Given the description of an element on the screen output the (x, y) to click on. 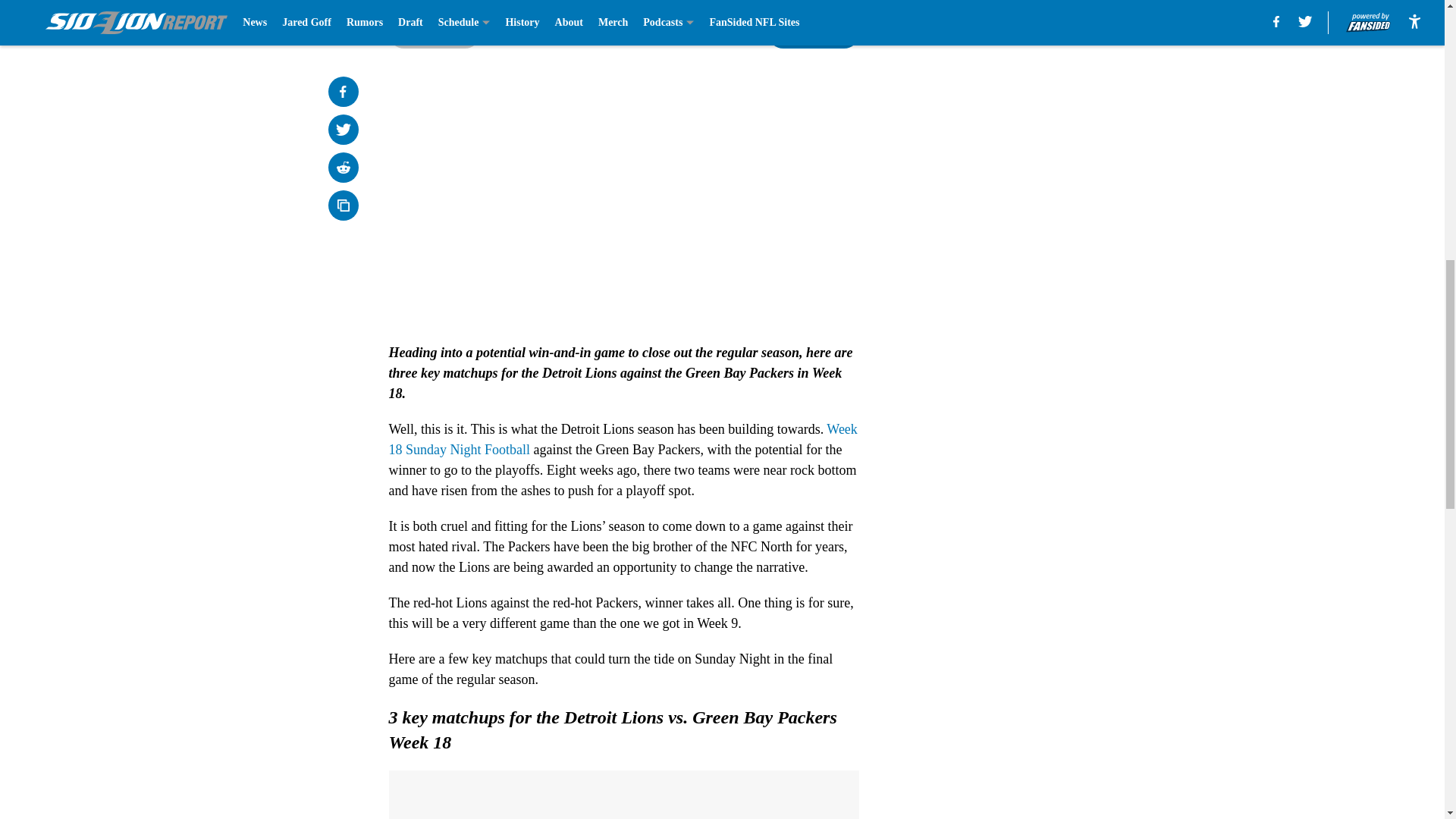
Prev (433, 33)
Week 18 Sunday Night Football (622, 439)
Next (813, 33)
